Given the description of an element on the screen output the (x, y) to click on. 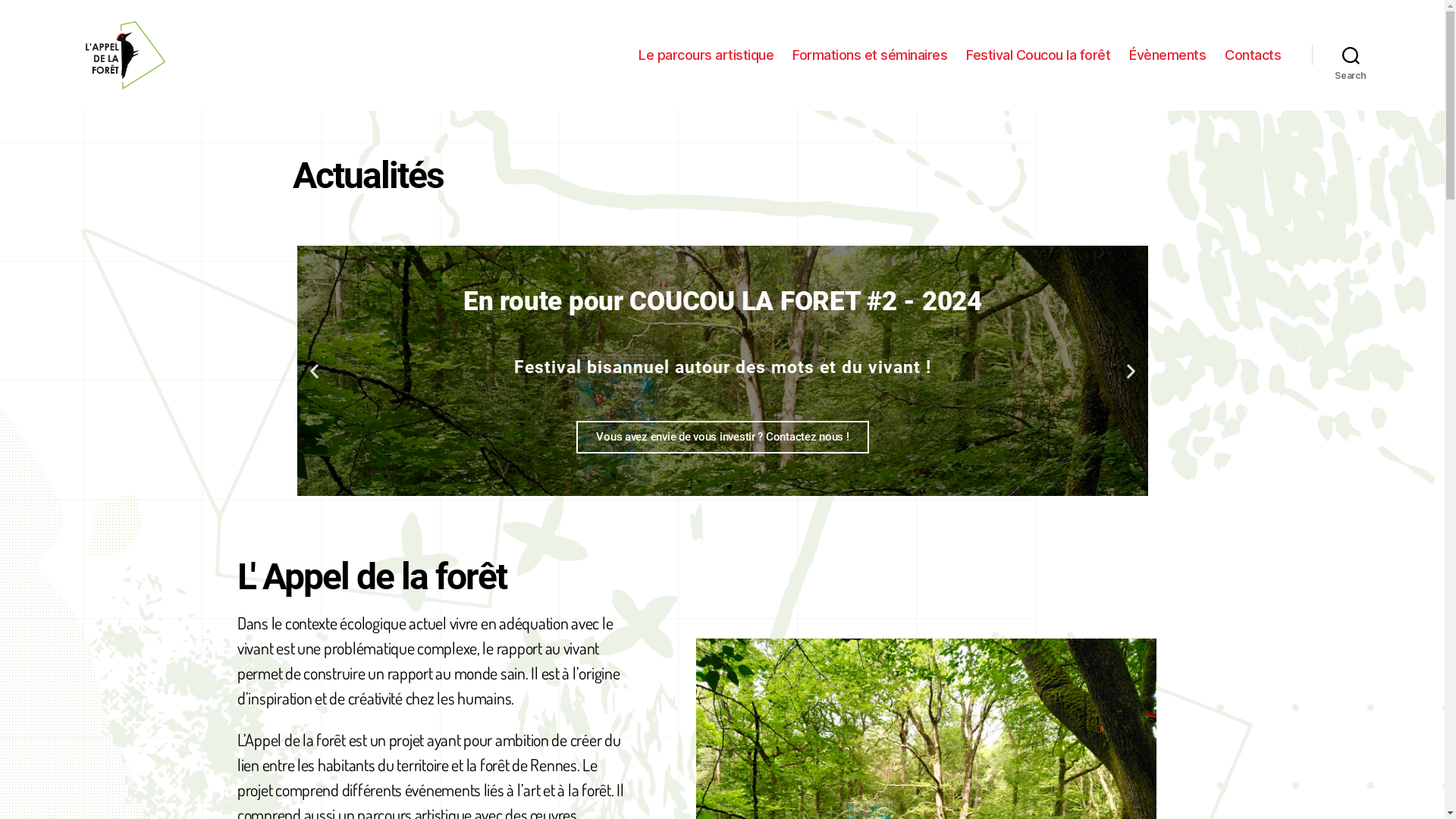
Le parcours artistique Element type: text (705, 55)
Contacts Element type: text (1252, 55)
Search Element type: text (1350, 55)
